Given the description of an element on the screen output the (x, y) to click on. 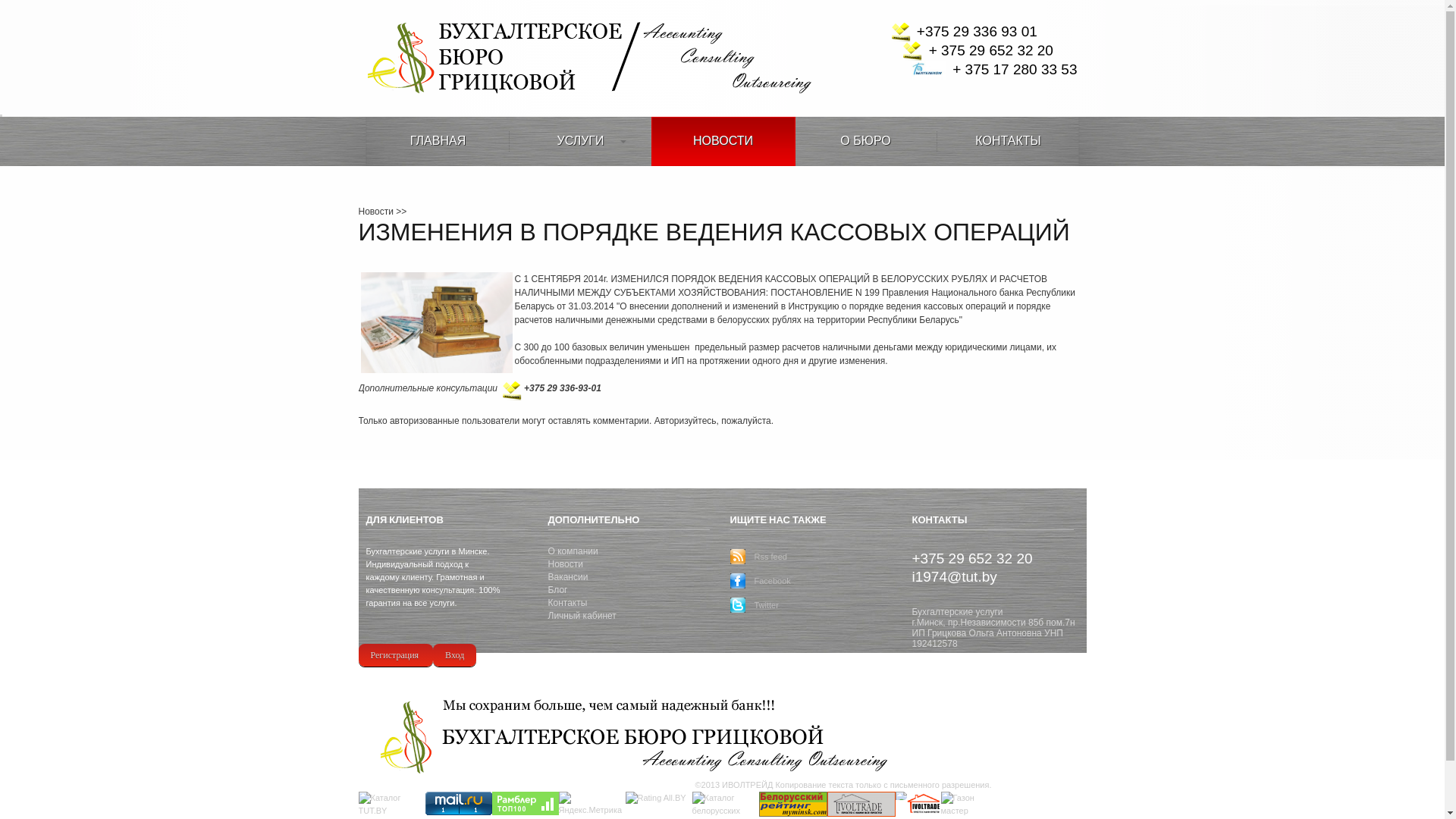
Twitter Element type: text (765, 604)
i1974@tut.by Element type: text (953, 574)
Rambler's Top100 Element type: hover (524, 803)
+375 29 652 32 20 Element type: text (971, 556)
Rss feed Element type: text (769, 556)
Facebook Element type: text (771, 580)
